Given the description of an element on the screen output the (x, y) to click on. 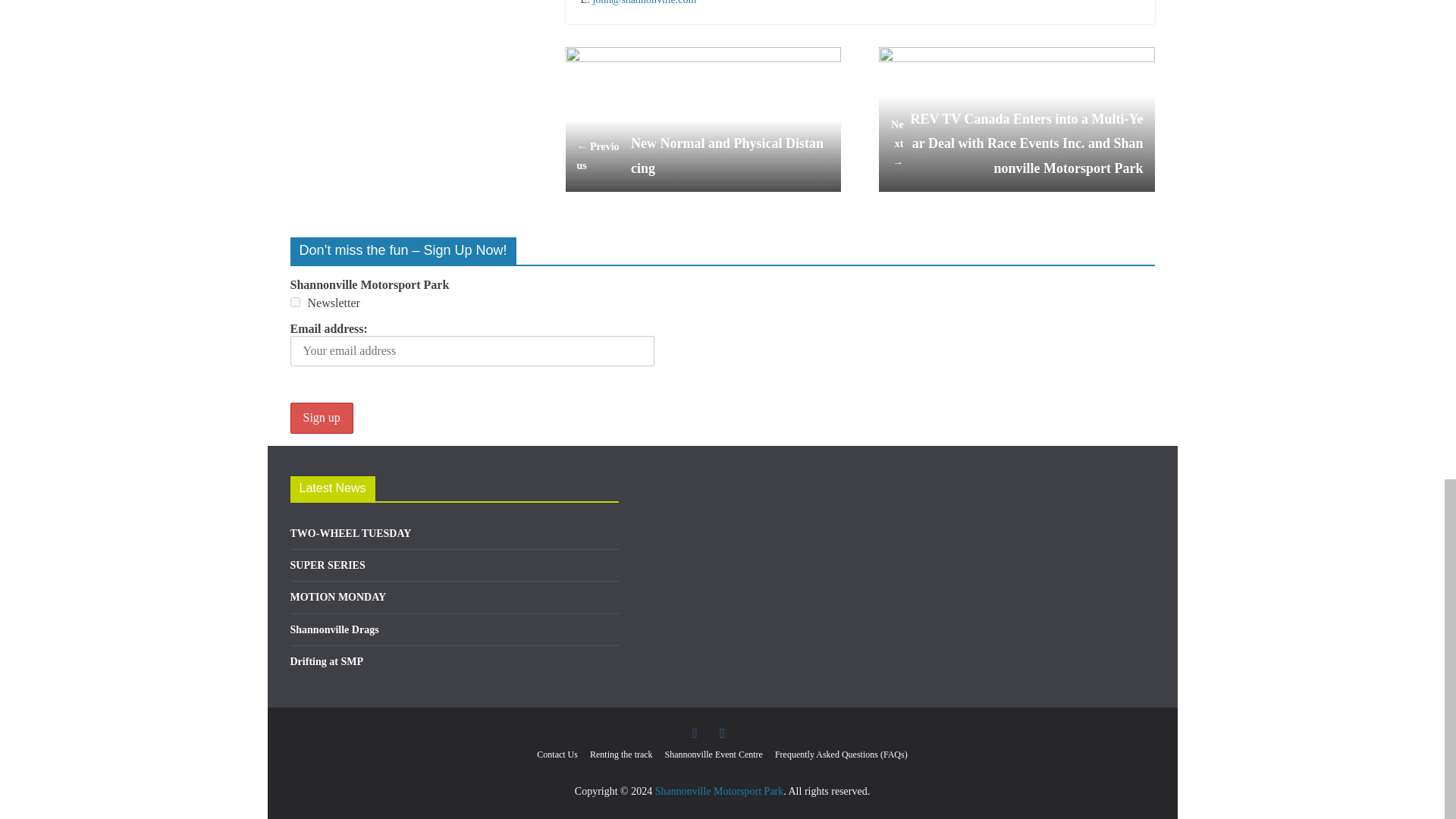
Sign up (320, 418)
Shannonville Motorsport Park (719, 790)
49e73799bc (294, 302)
